Given the description of an element on the screen output the (x, y) to click on. 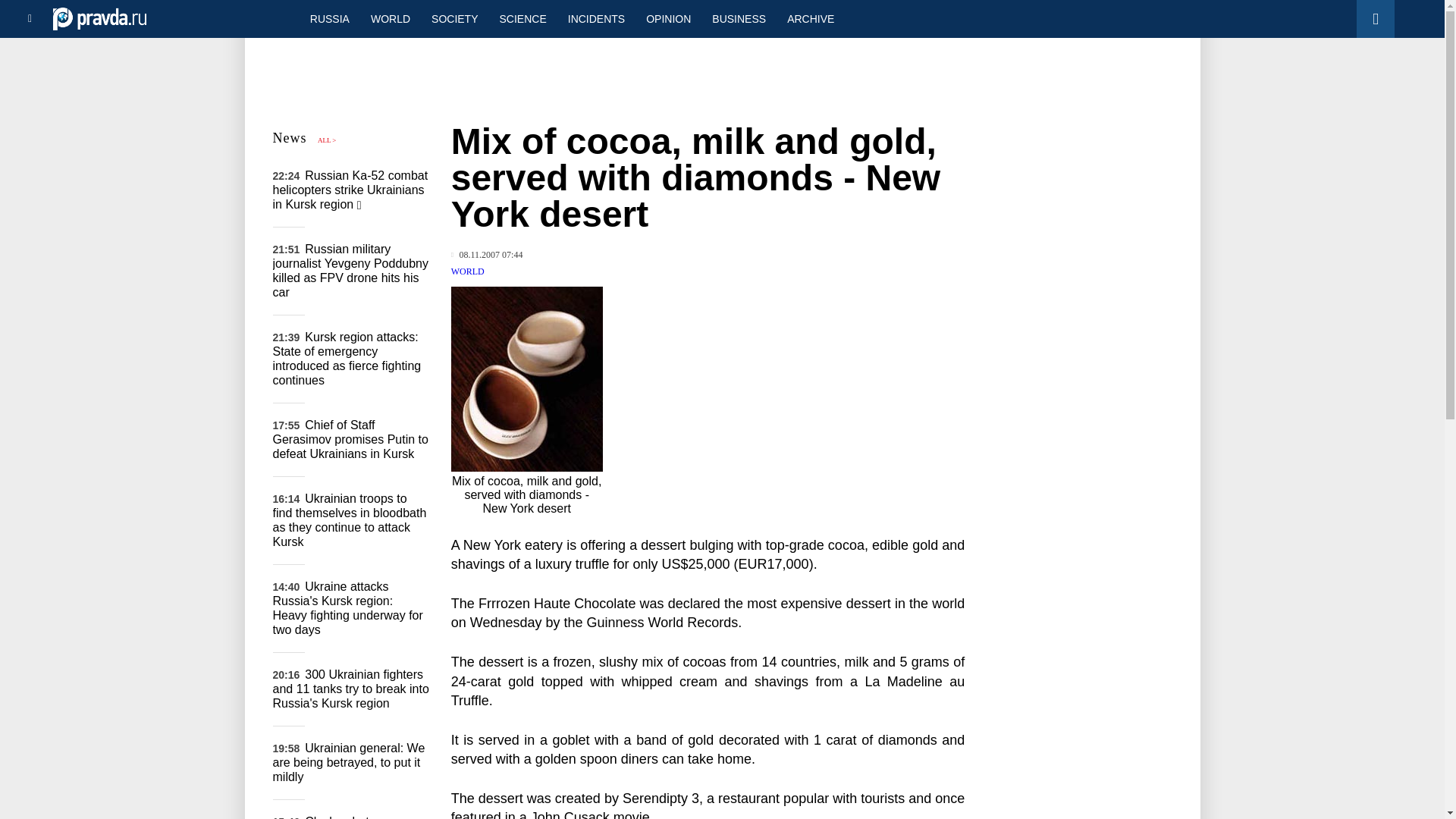
SOCIETY (453, 18)
SCIENCE (523, 18)
ARCHIVE (810, 18)
News (290, 137)
Ukrainian general: We are being betrayed, to put it mildly (349, 762)
WORLD (467, 271)
WORLD (389, 18)
RUSSIA (329, 18)
OPINION (667, 18)
INCIDENTS (595, 18)
